Given the description of an element on the screen output the (x, y) to click on. 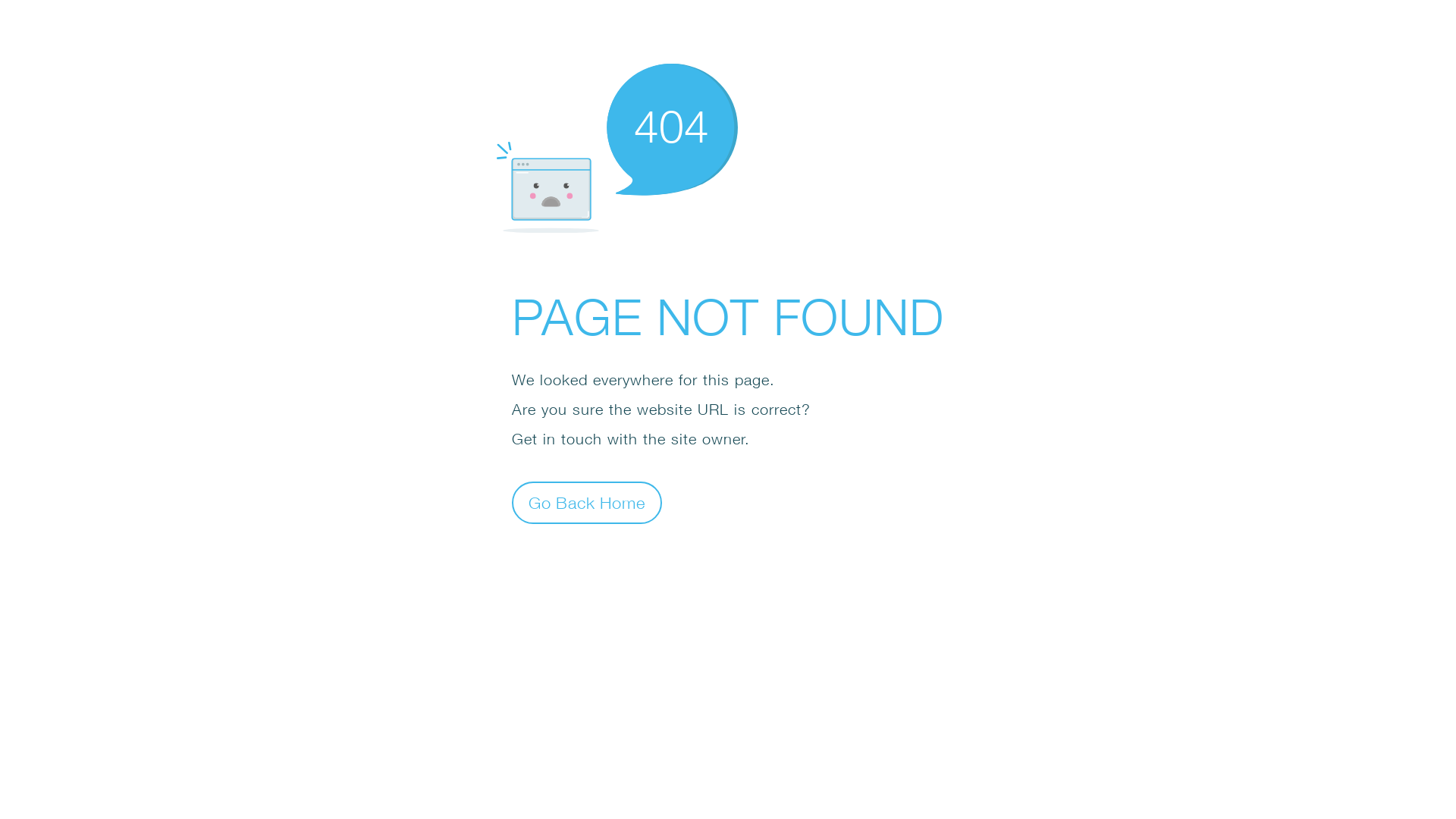
Go Back Home Element type: text (586, 502)
